Given the description of an element on the screen output the (x, y) to click on. 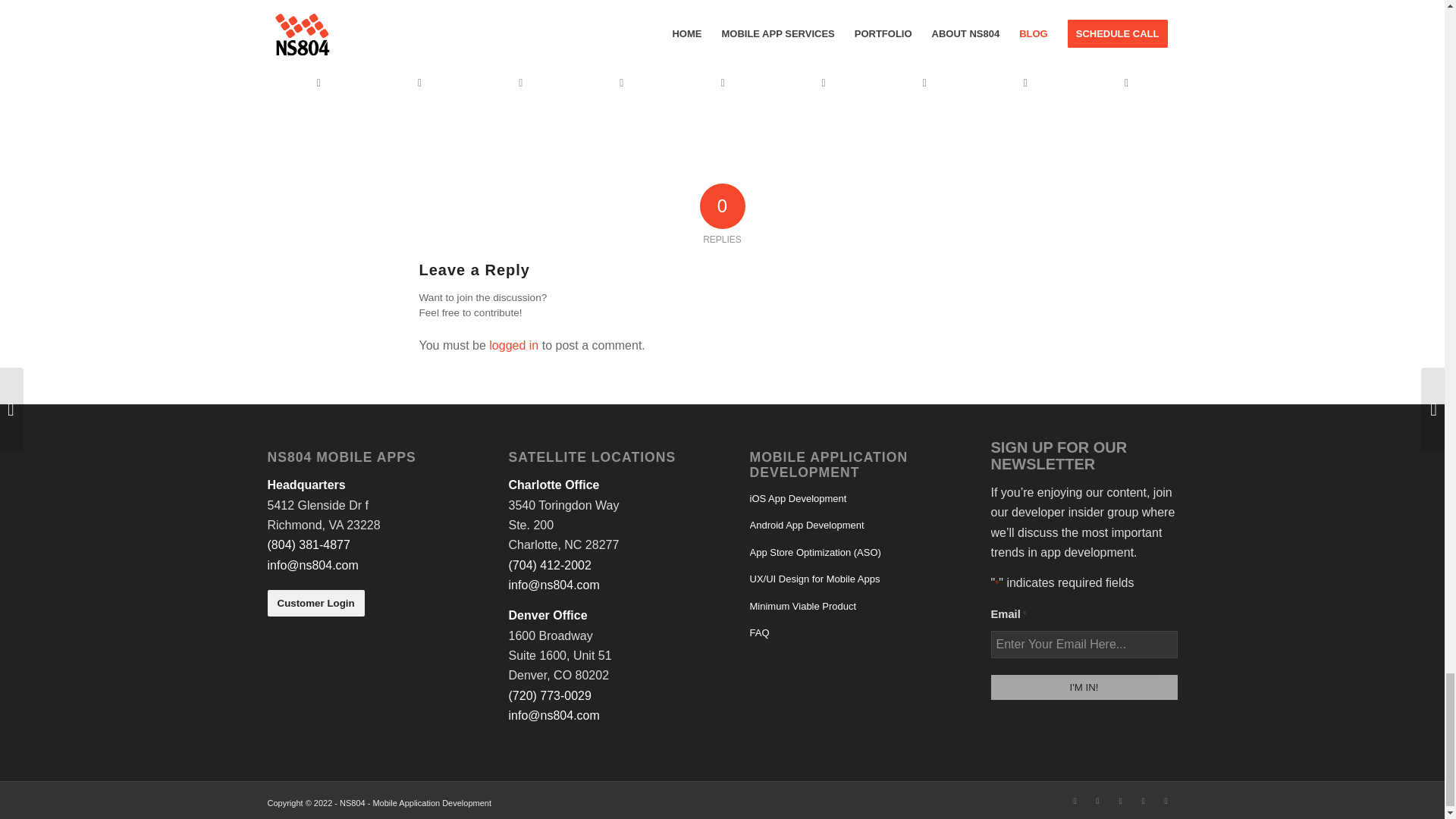
I'M IN! (1083, 687)
LinkedIn (1074, 800)
Instagram (1119, 800)
Facebook (1097, 800)
